Given the description of an element on the screen output the (x, y) to click on. 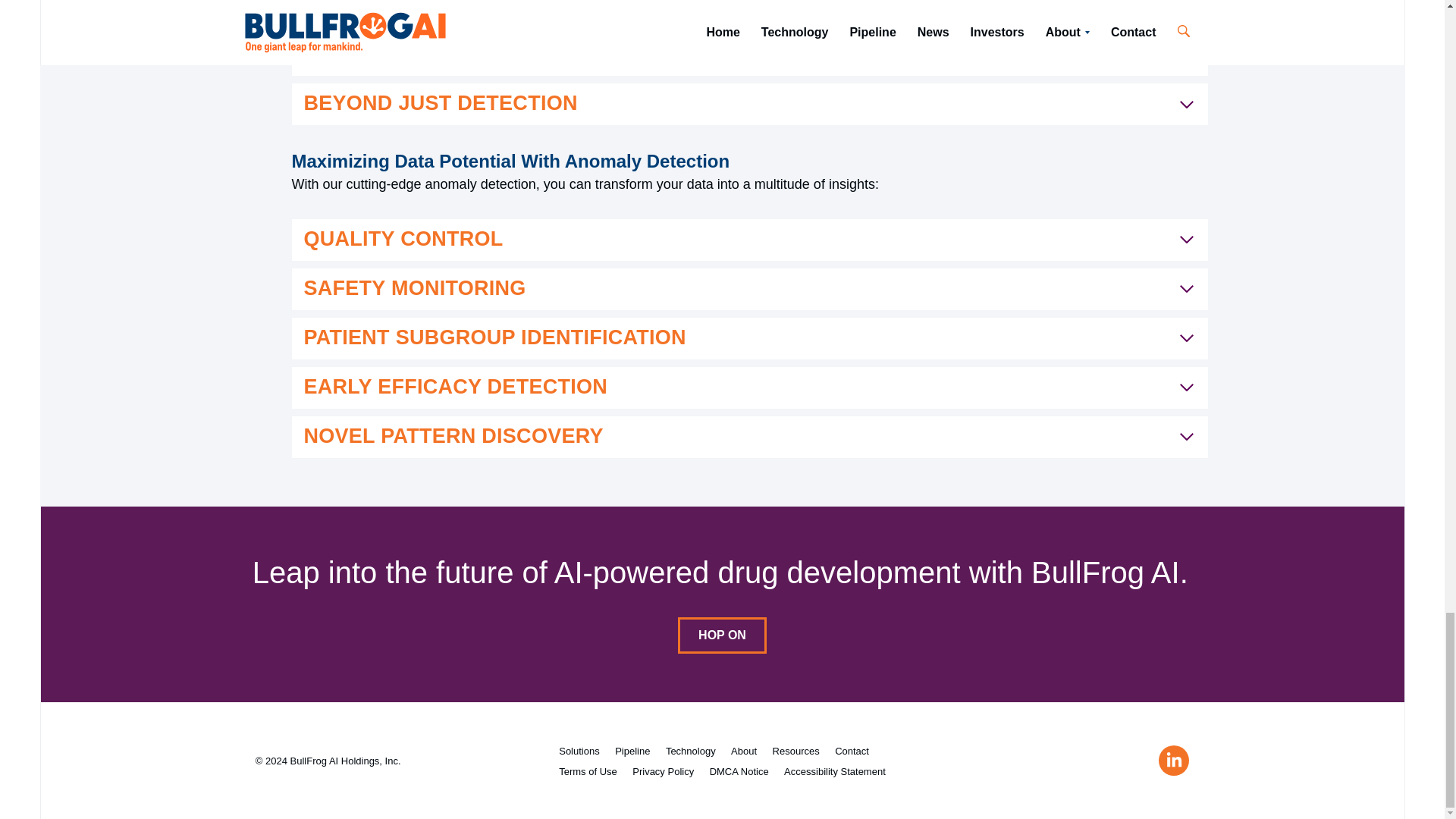
BENCHMARK EXCELLENCE (749, 55)
